Given the description of an element on the screen output the (x, y) to click on. 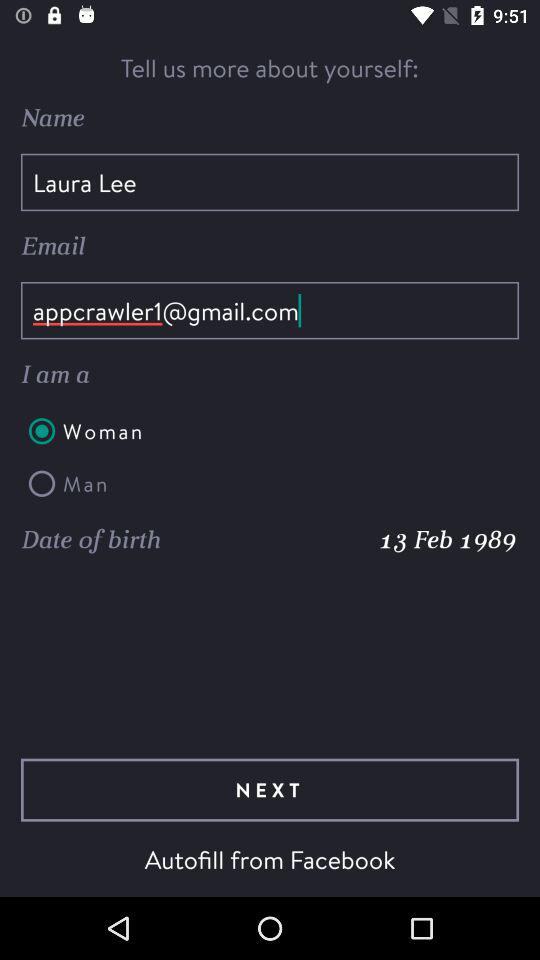
click the item below name icon (269, 182)
